Given the description of an element on the screen output the (x, y) to click on. 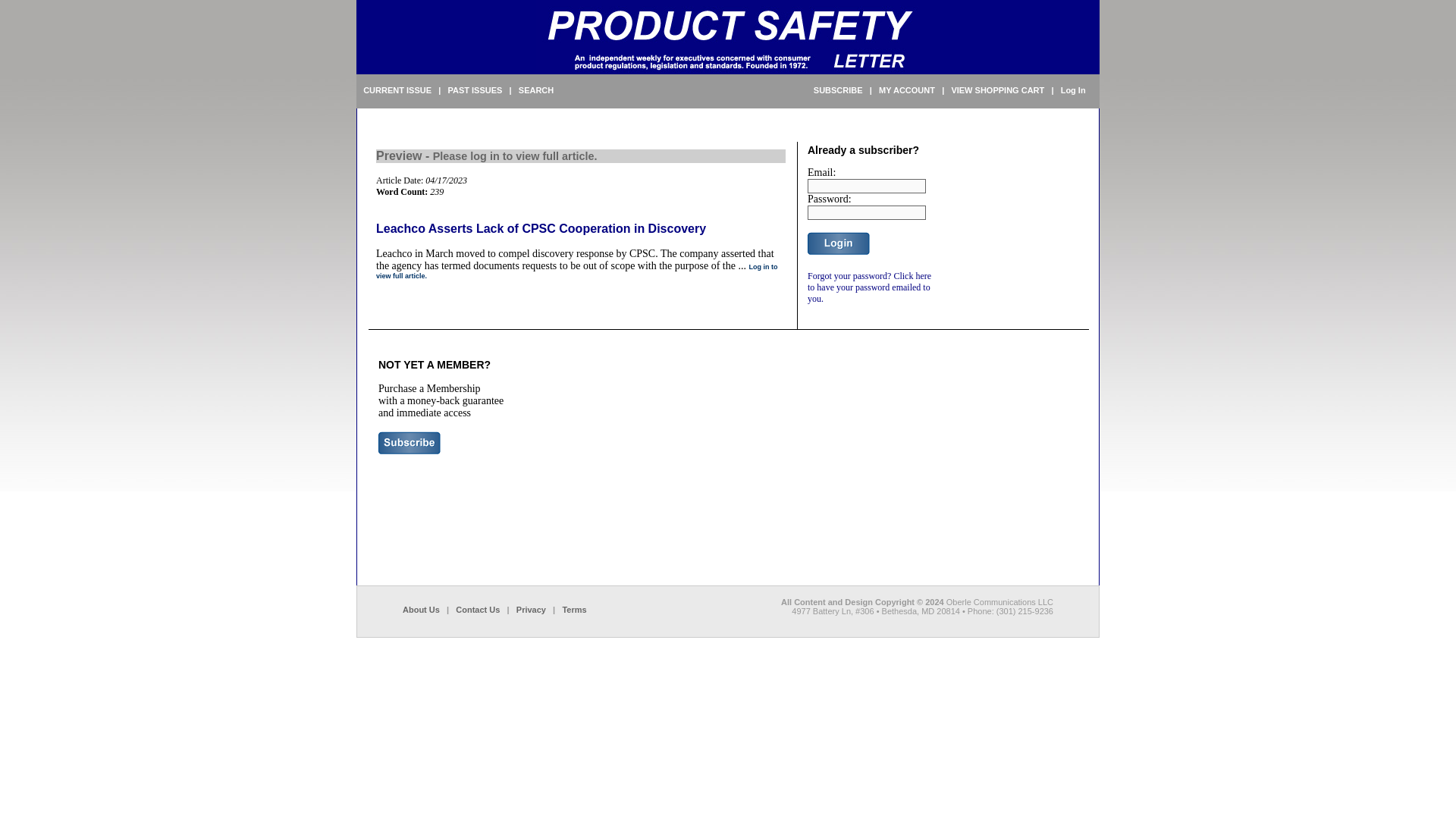
SUBSCRIBE (838, 90)
VIEW SHOPPING CART (996, 90)
MY ACCOUNT (906, 90)
Privacy (531, 609)
PAST ISSUES (474, 90)
Terms (574, 609)
Contact Us (477, 609)
Log In (1073, 90)
About Us (421, 609)
